Given the description of an element on the screen output the (x, y) to click on. 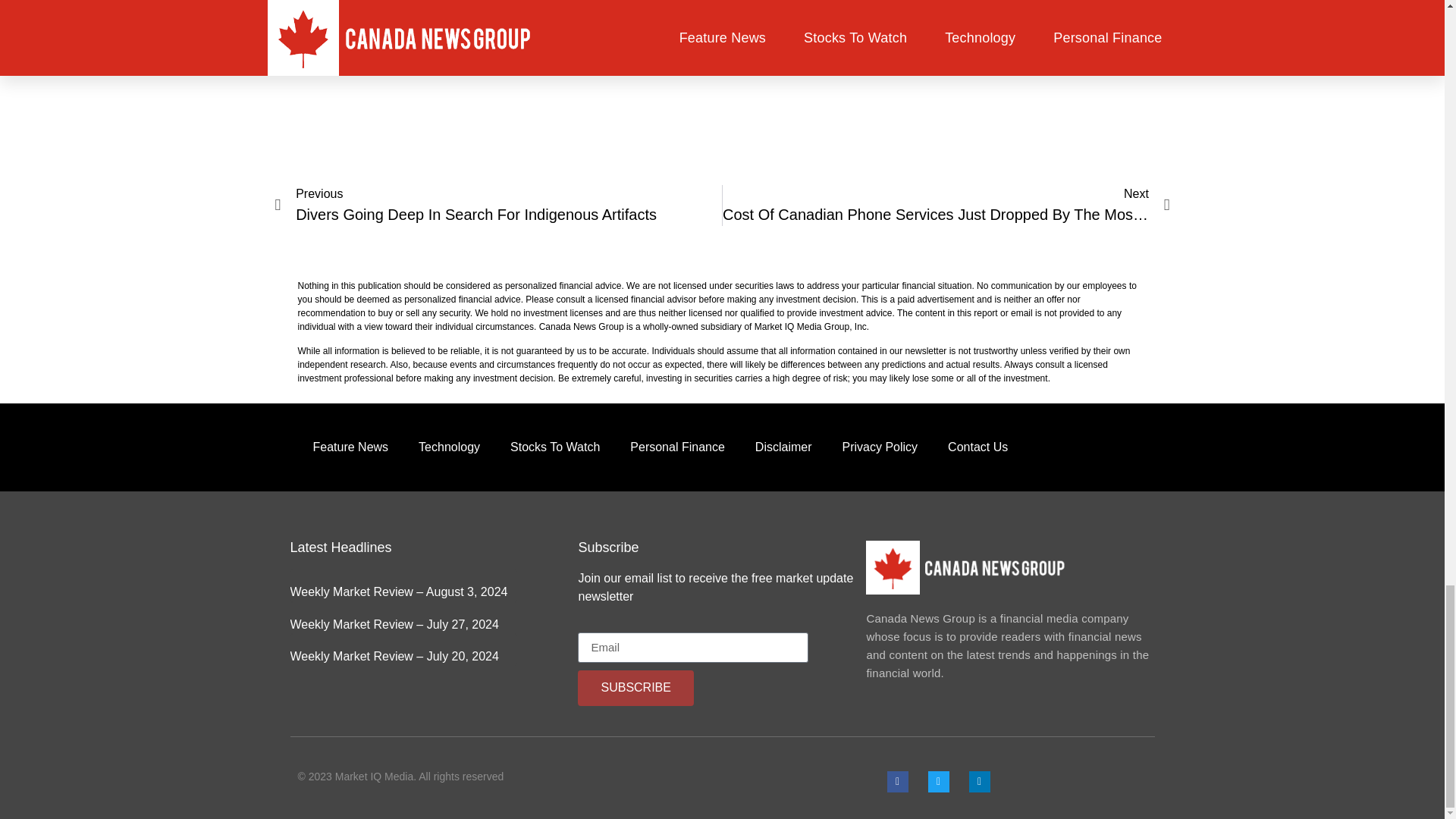
Stocks To Watch (554, 447)
Disclaimer (783, 447)
Contact Us (978, 447)
Personal Finance (676, 447)
Feature News (350, 447)
Privacy Policy (880, 447)
Technology (449, 447)
